Given the description of an element on the screen output the (x, y) to click on. 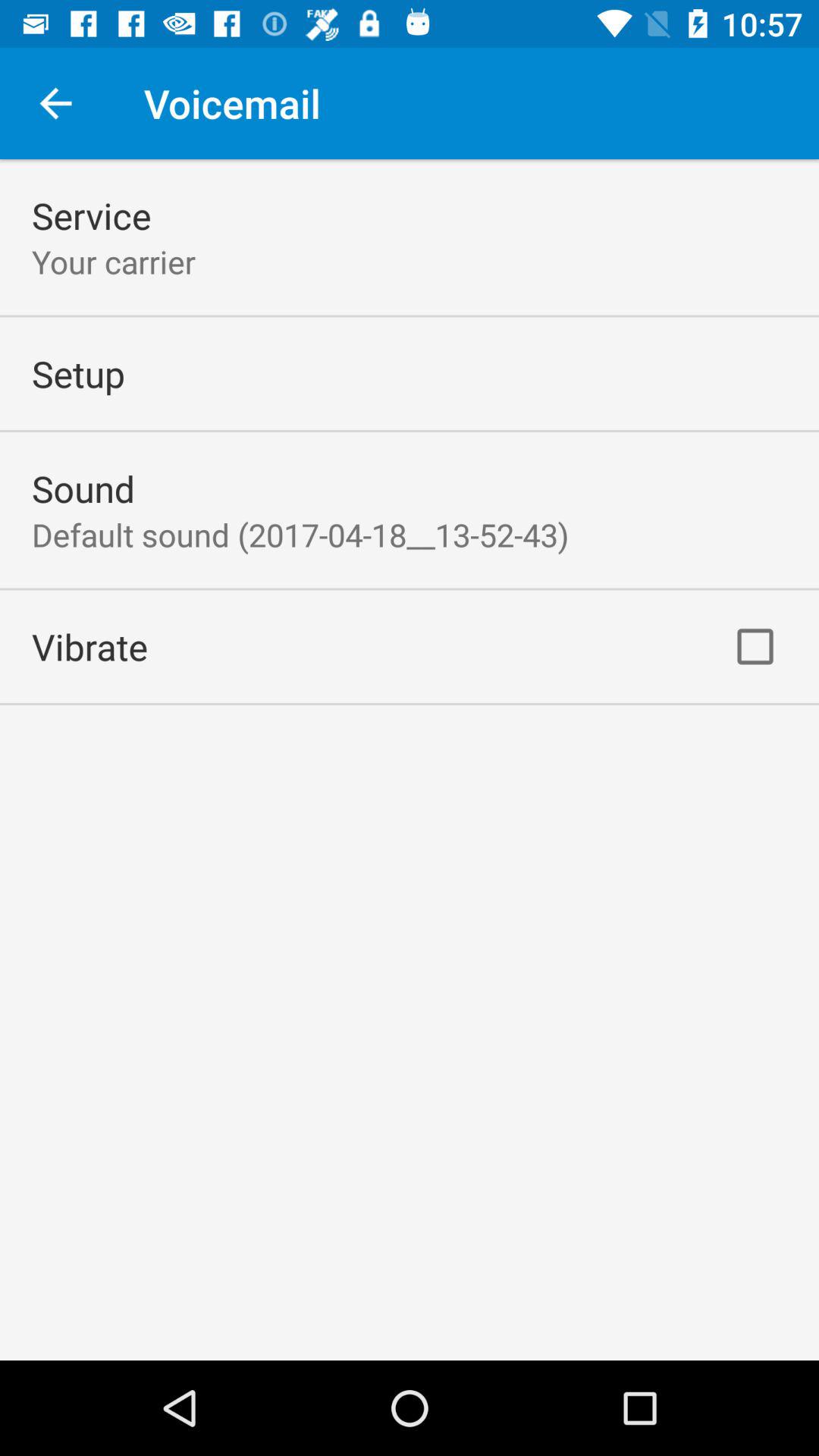
tap the app above service (55, 103)
